Given the description of an element on the screen output the (x, y) to click on. 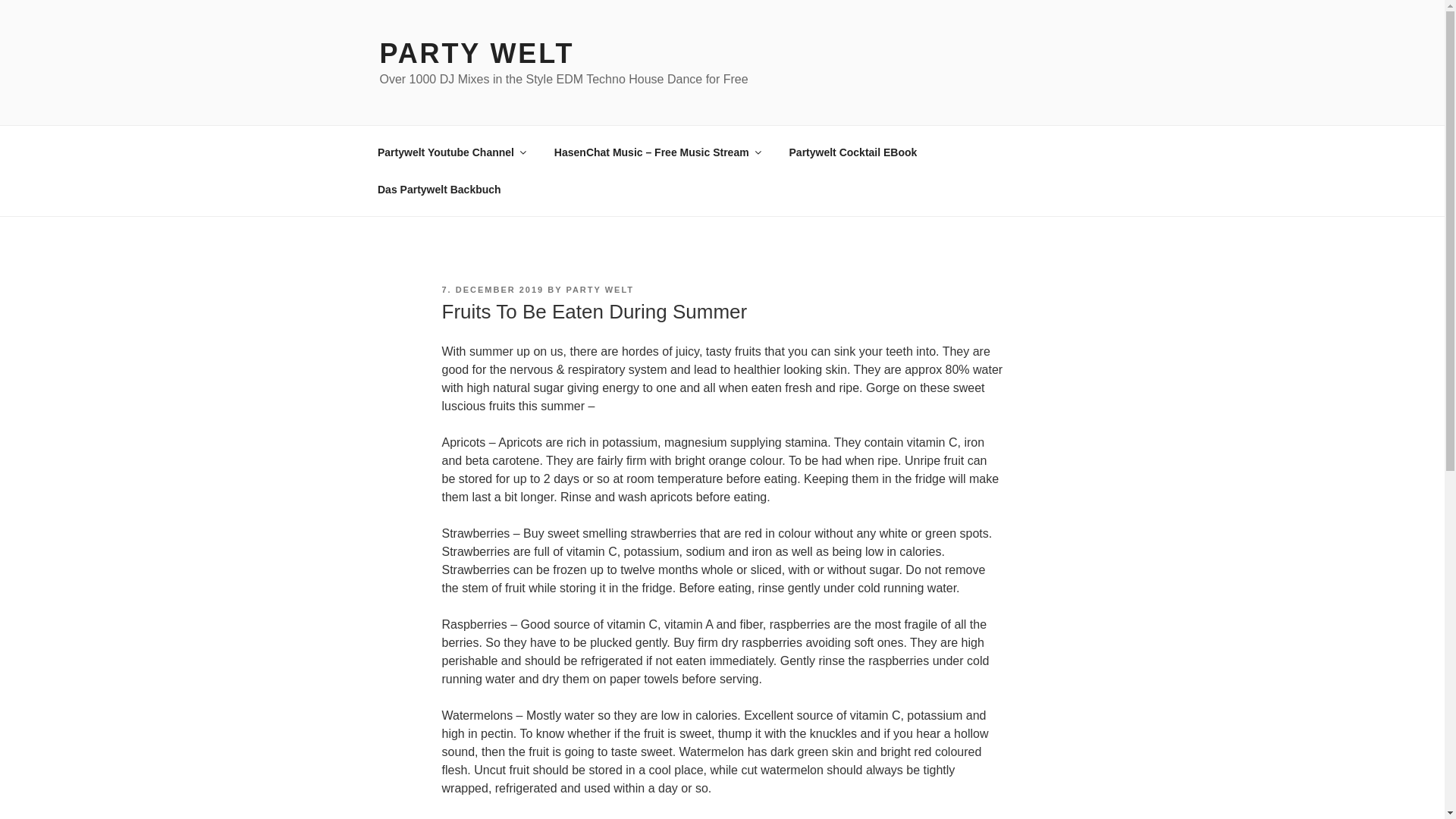
PARTY WELT (475, 52)
Partywelt Cocktail EBook (853, 151)
Das Partywelt Backbuch (438, 189)
Partywelt Youtube Channel (450, 151)
